Given the description of an element on the screen output the (x, y) to click on. 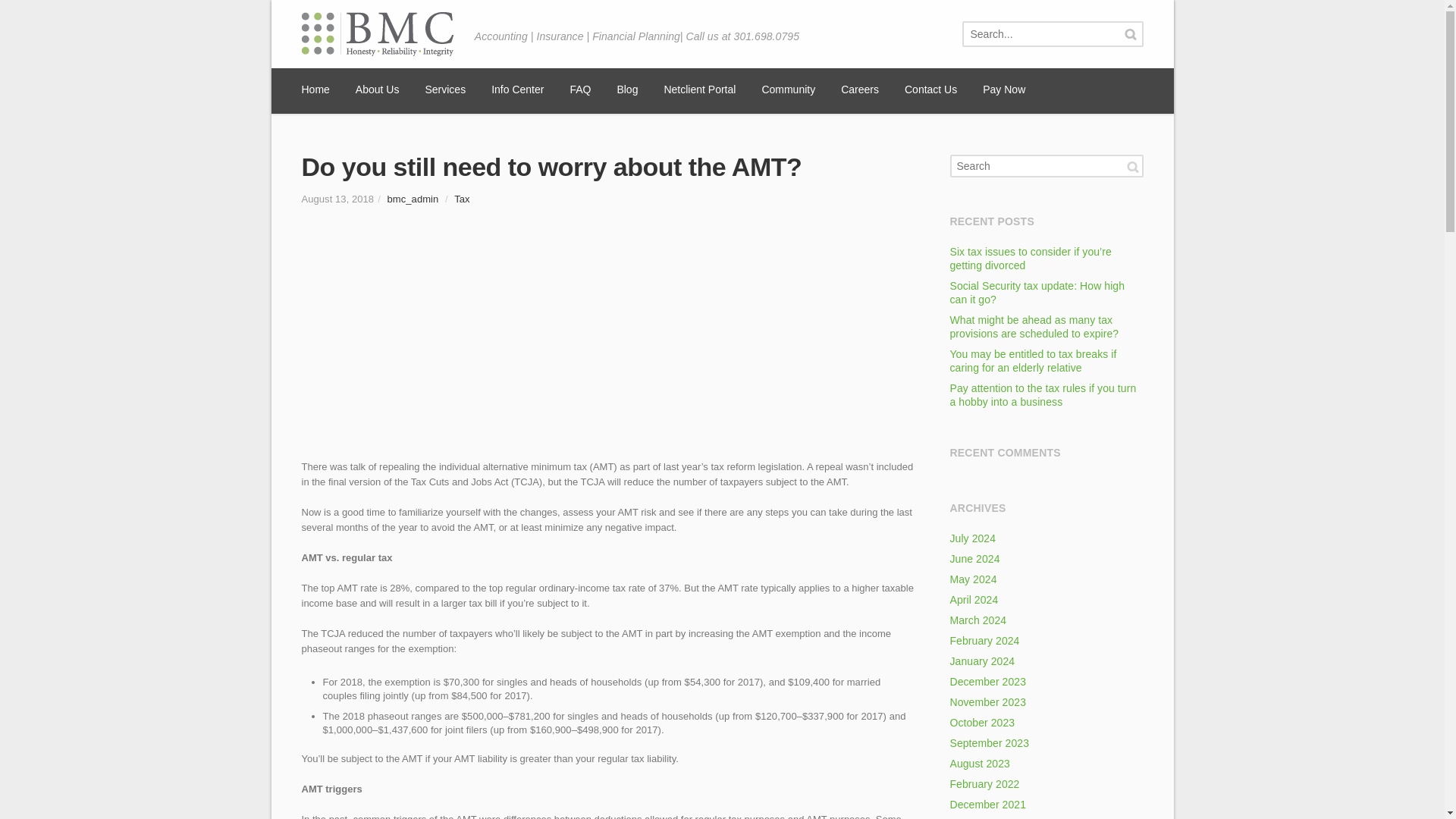
About Us (376, 90)
Info Center (517, 90)
Contact Us (930, 90)
Services (445, 90)
Tax (461, 198)
Community (788, 90)
Pay Now (1003, 90)
Search (1129, 34)
Netclient Portal (699, 90)
